Given the description of an element on the screen output the (x, y) to click on. 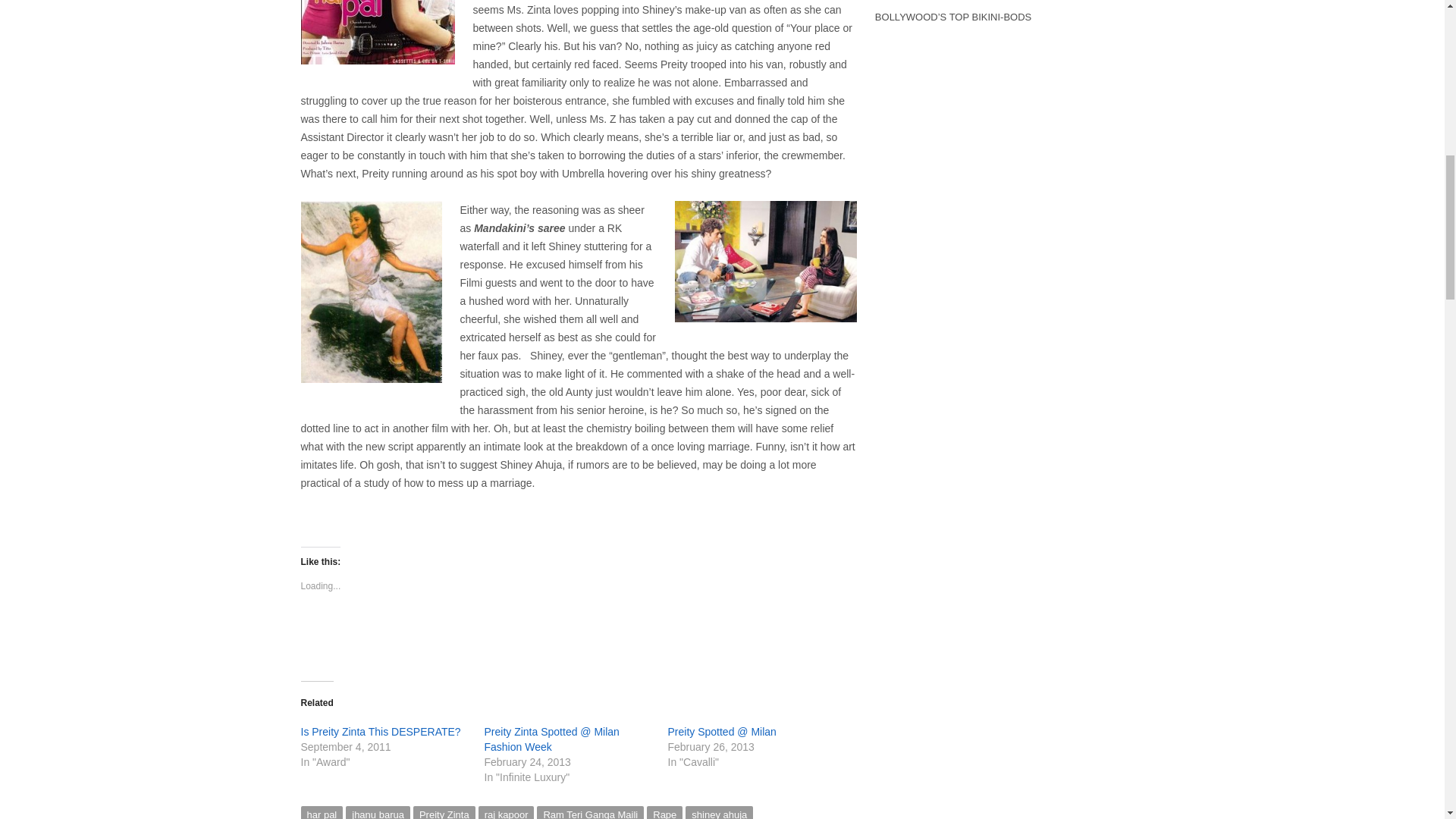
raj kapoor (506, 812)
Ram Teri Ganga Maili (590, 812)
shiney ahuja (718, 812)
jhanu barua (378, 812)
Is Preity Zinta This DESPERATE? (379, 731)
Is Preity Zinta This DESPERATE? (379, 731)
Like or Reblog (577, 639)
Rape (664, 812)
Preity Zinta (444, 812)
Har Pal (376, 32)
mandakini (370, 292)
har pal (320, 812)
